Given the description of an element on the screen output the (x, y) to click on. 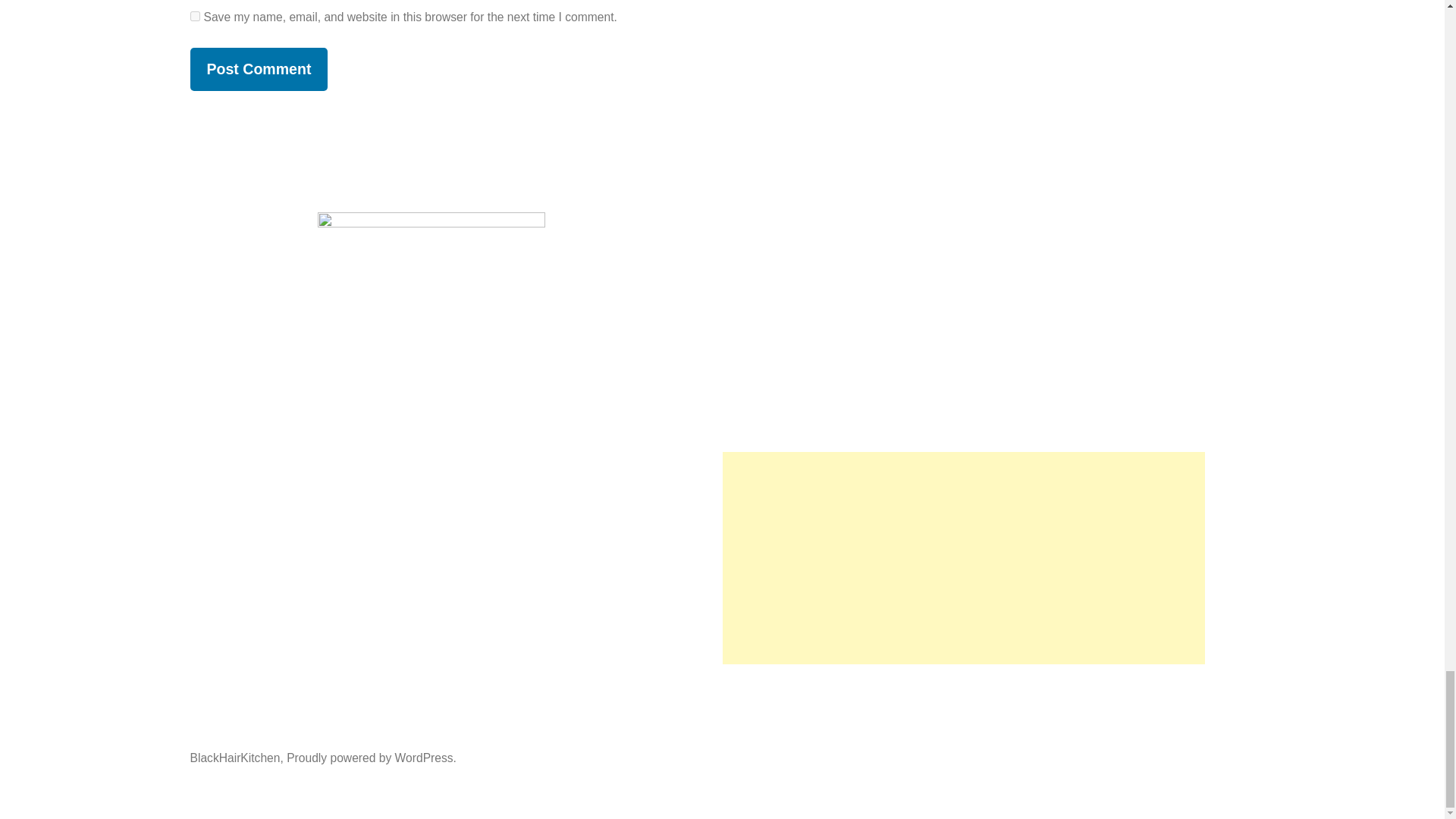
Post Comment (258, 68)
yes (194, 16)
